Given the description of an element on the screen output the (x, y) to click on. 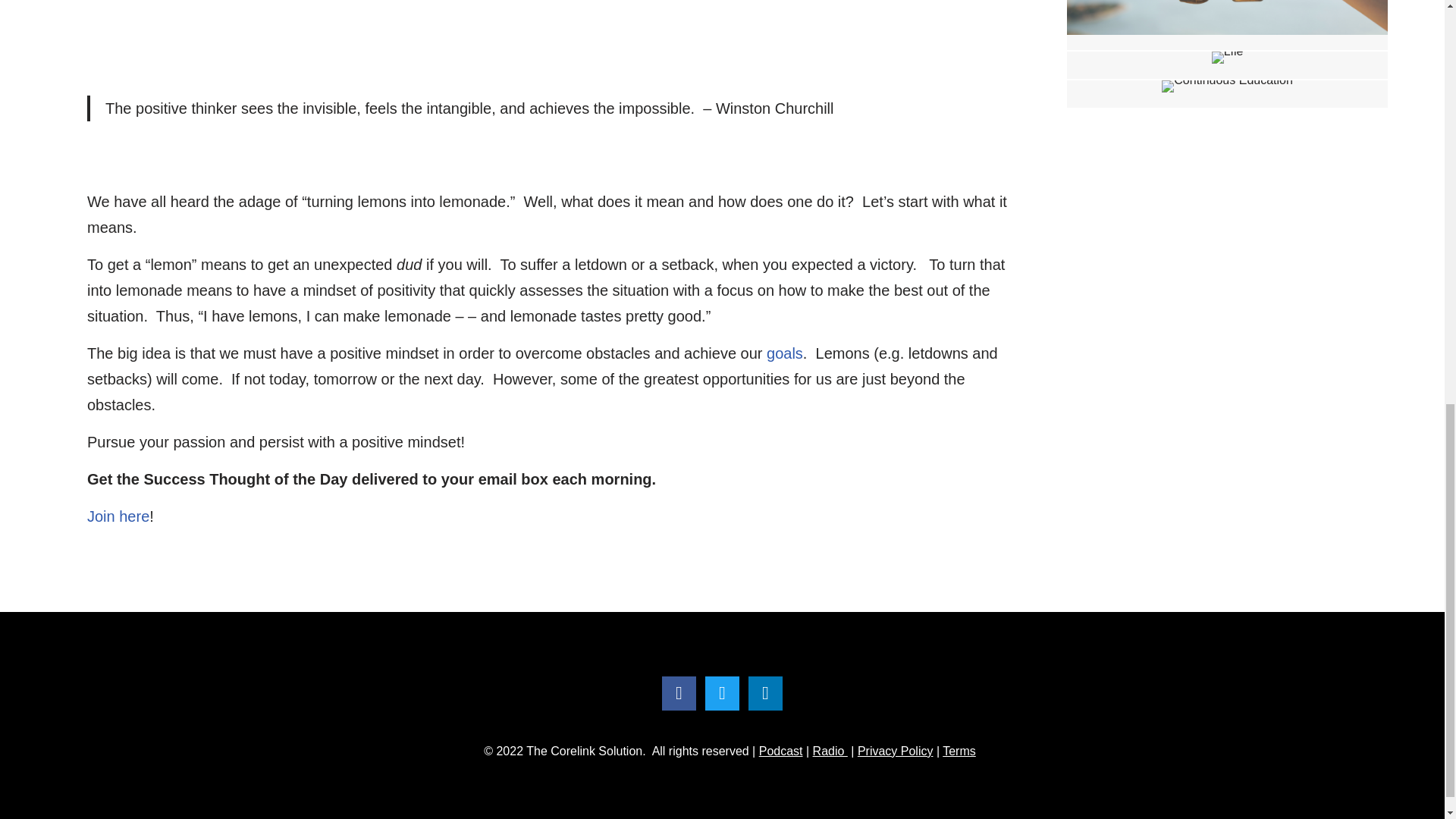
Podcast (780, 750)
Join here (118, 515)
Privacy Policy (895, 750)
Continuous Education (1226, 86)
4 Ways Lifelong Learning Makes You A More Amazing You (1227, 64)
work life balance (1227, 17)
goals (785, 352)
Lifelong Learning Header (1227, 57)
Radio (829, 750)
How To Master Work-Life Balance in 5 Easy Steps (1227, 24)
Terms (958, 750)
